Given the description of an element on the screen output the (x, y) to click on. 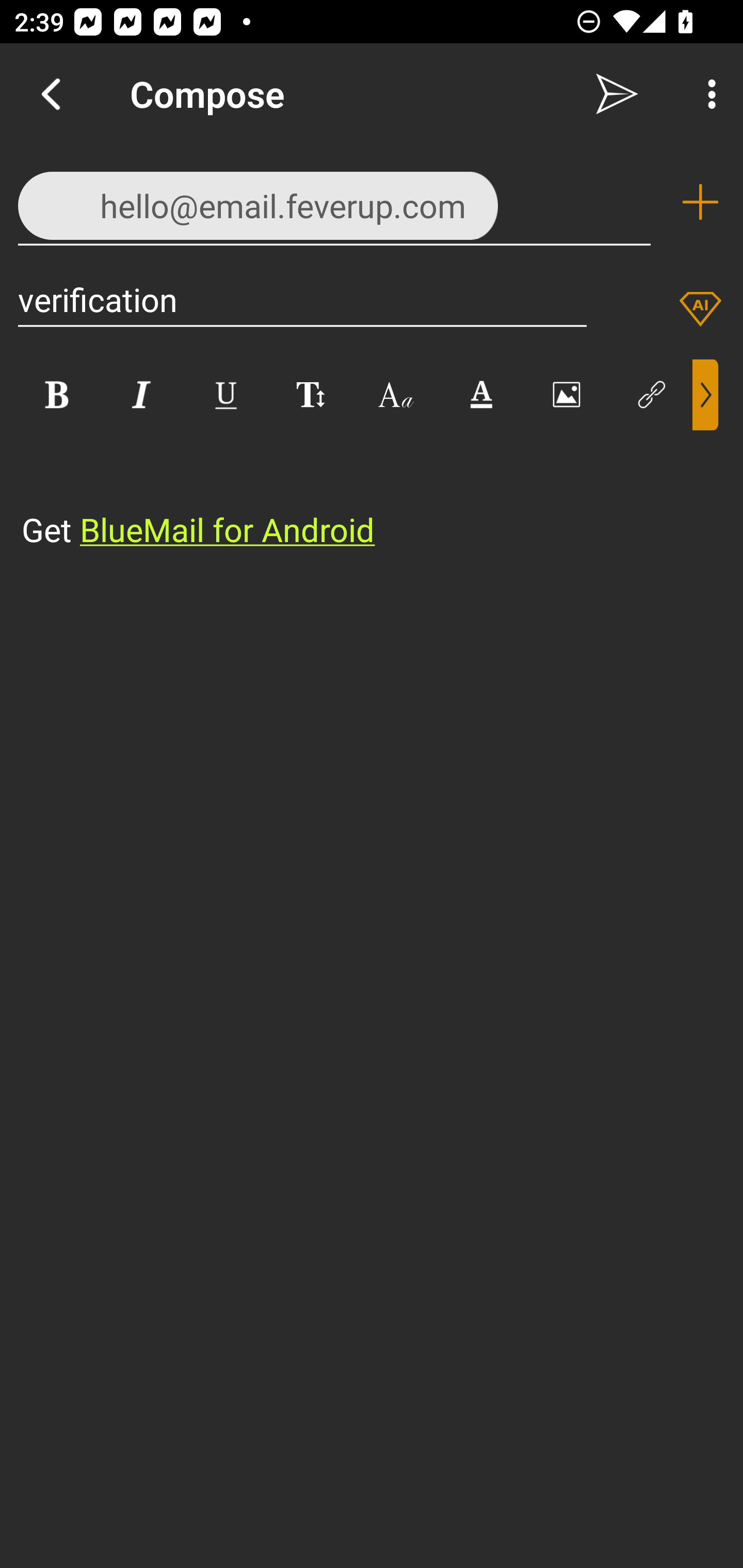
Navigate up (50, 93)
Send (616, 93)
More Options (706, 93)
<hello@email.feverup.com>,  (334, 201)
Add recipient (To) (699, 201)
verification (302, 299)


⁣Get BlueMail for Android ​ (355, 491)
